Given the description of an element on the screen output the (x, y) to click on. 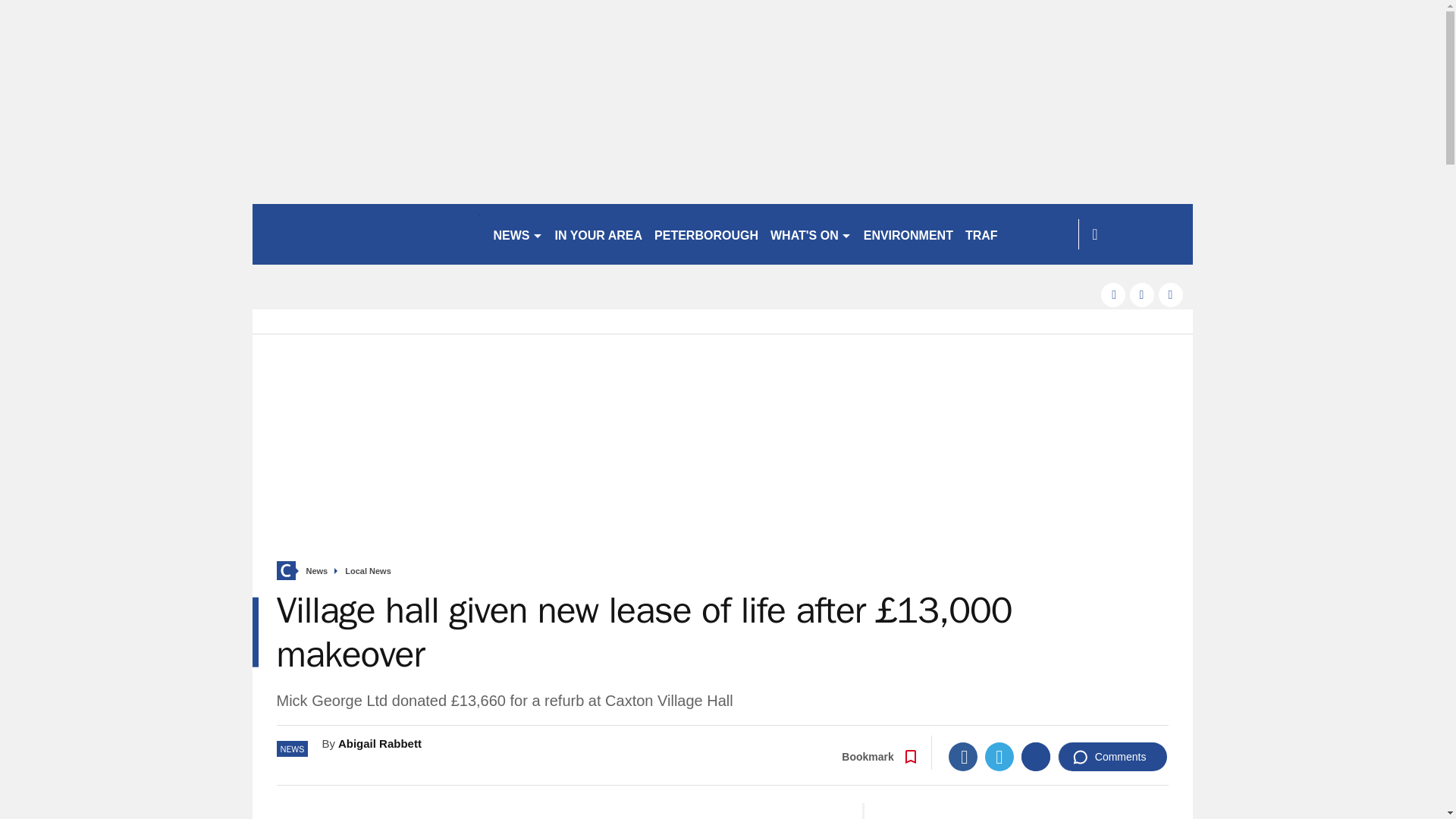
cambridgenews (365, 233)
PETERBOROUGH (705, 233)
Twitter (999, 756)
instagram (1170, 294)
Facebook (962, 756)
twitter (1141, 294)
ENVIRONMENT (908, 233)
facebook (1112, 294)
NEWS (517, 233)
Comments (1112, 756)
WHAT'S ON (810, 233)
IN YOUR AREA (598, 233)
